Given the description of an element on the screen output the (x, y) to click on. 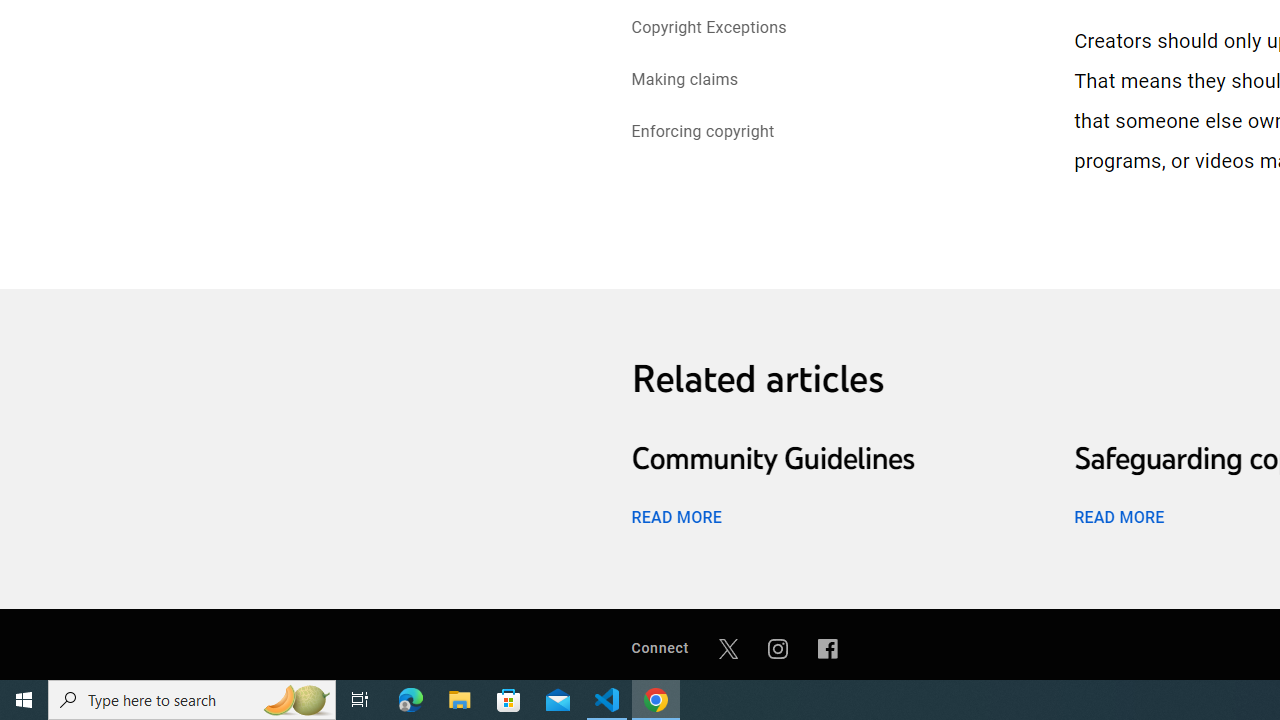
Twitter (728, 648)
READ MORE (1118, 516)
Facebook (828, 648)
Instagram (778, 648)
Making claims (684, 81)
Enforcing copyright (702, 133)
Copyright Exceptions (709, 28)
